Given the description of an element on the screen output the (x, y) to click on. 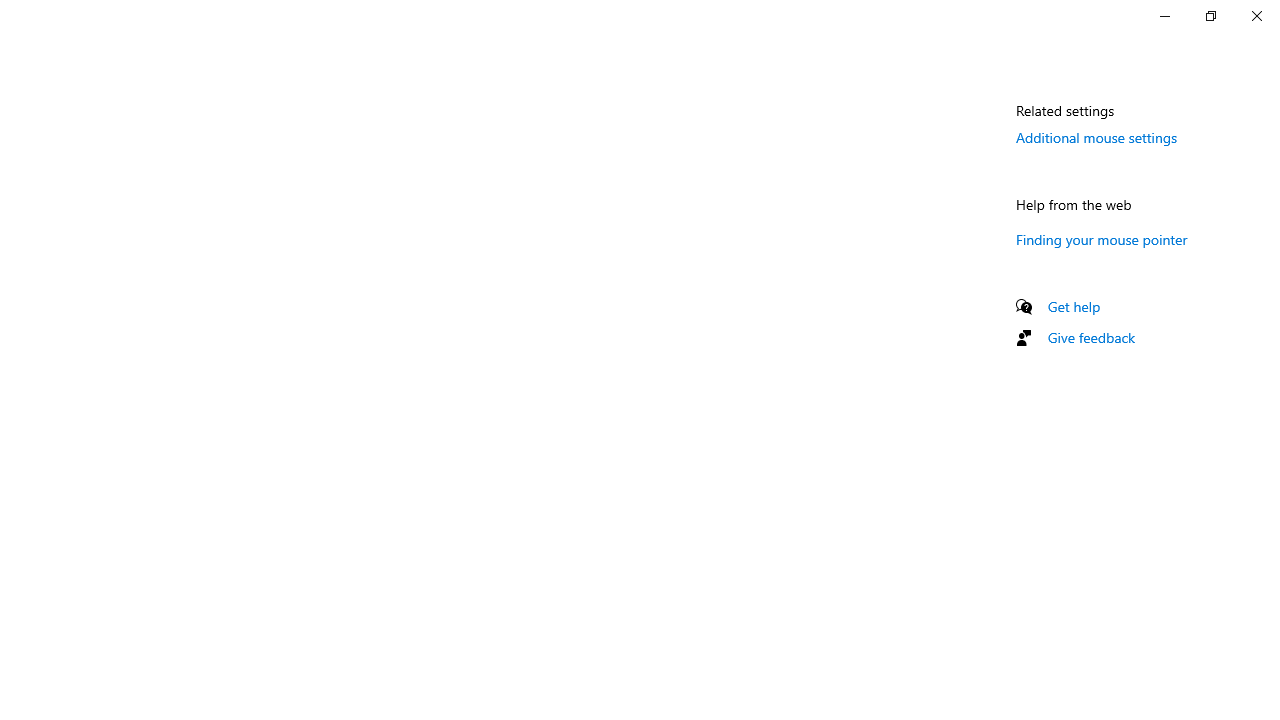
Finding your mouse pointer (1101, 239)
Minimize Settings (1164, 15)
Restore Settings (1210, 15)
Additional mouse settings (1096, 137)
Get help (1074, 306)
Close Settings (1256, 15)
Give feedback (1091, 337)
